Given the description of an element on the screen output the (x, y) to click on. 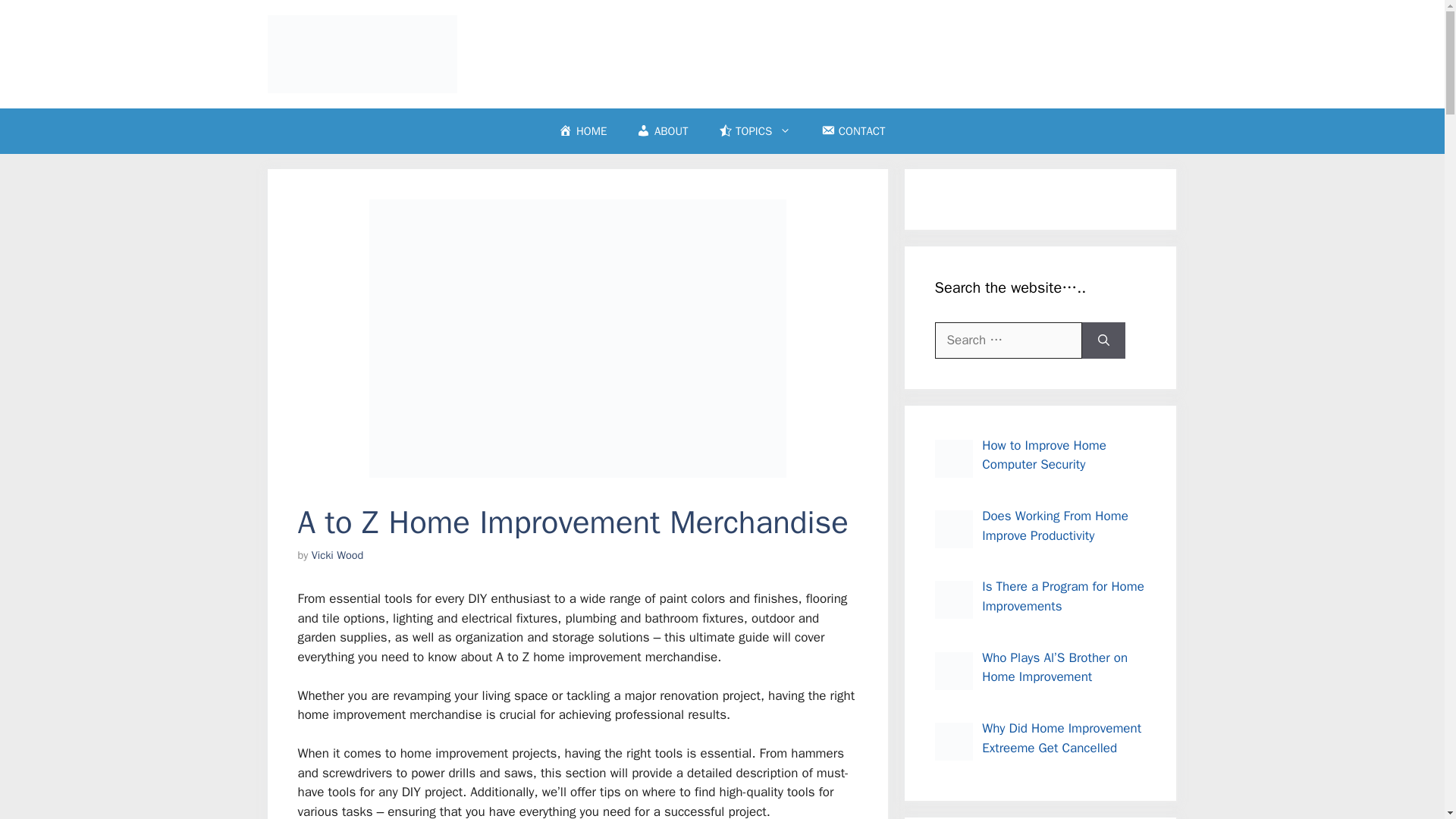
A to Z Home Improvement Merchandise 1 (577, 338)
TOPICS (754, 130)
CONTACT (852, 130)
View all posts by Vicki Wood (337, 554)
HOME (582, 130)
Vicki Wood (337, 554)
ABOUT (662, 130)
